Given the description of an element on the screen output the (x, y) to click on. 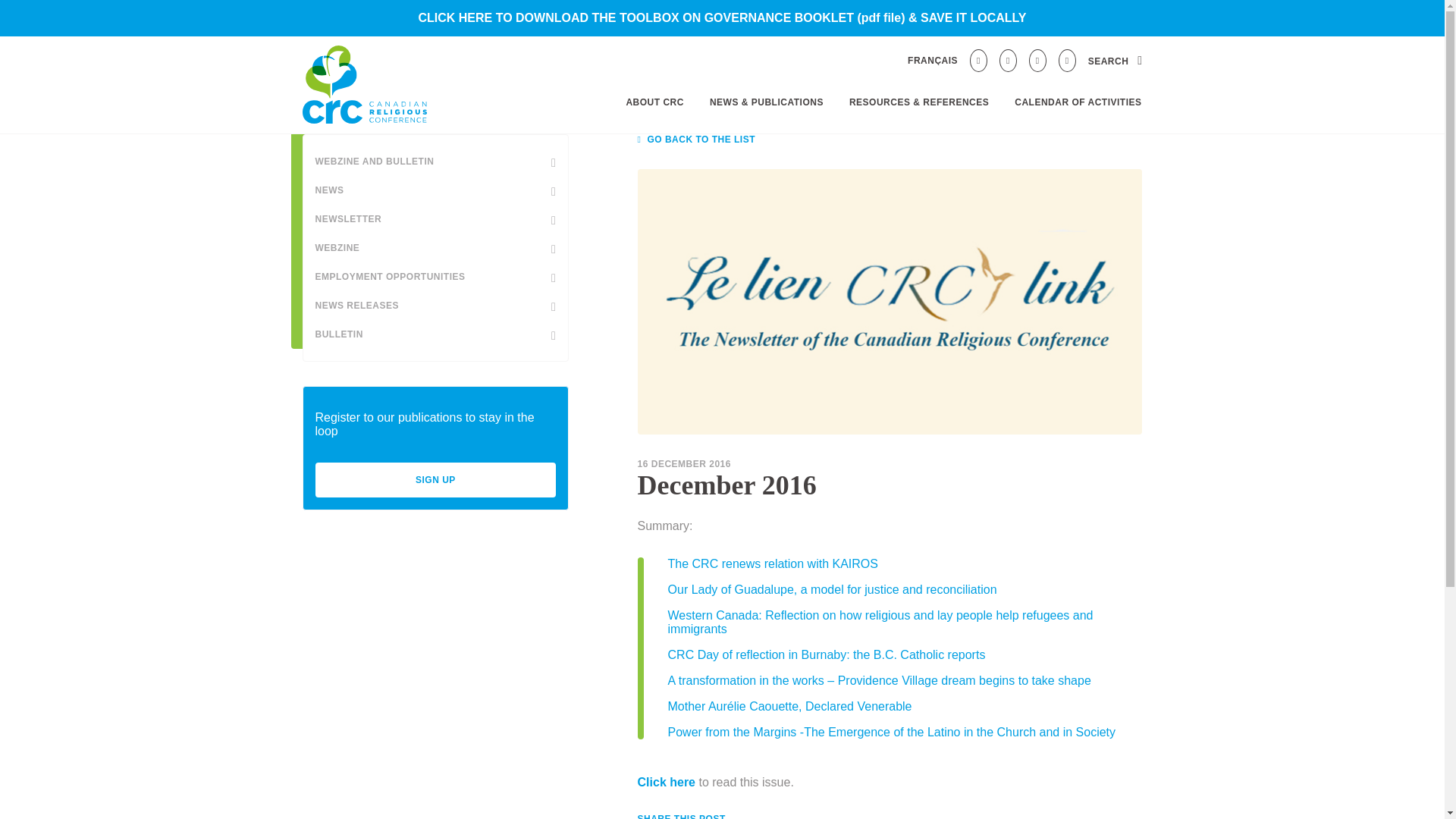
Search (1114, 60)
Press Enter (1116, 93)
SEARCH (1114, 60)
ABOUT CRC (654, 102)
